Given the description of an element on the screen output the (x, y) to click on. 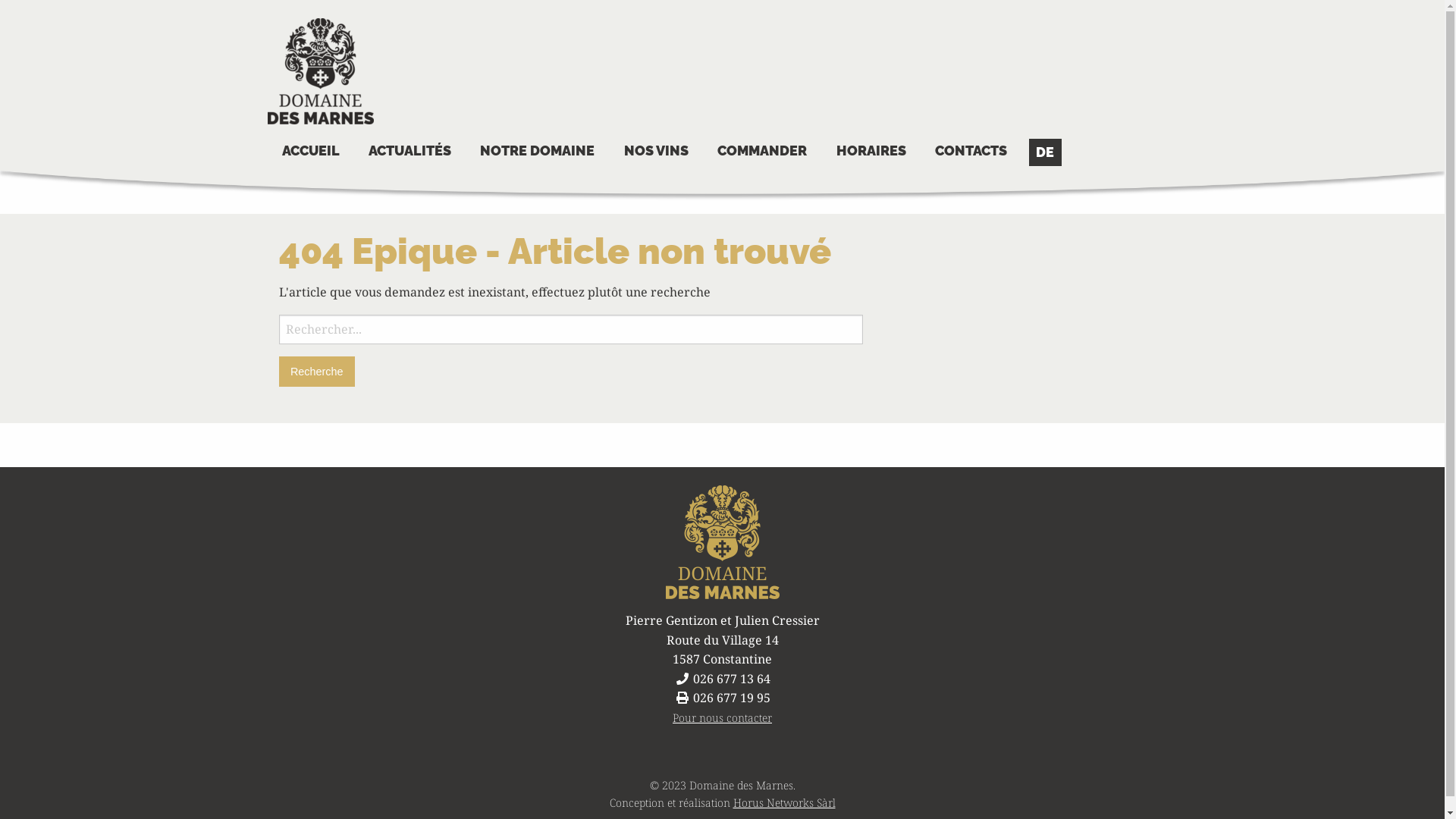
Recherche Element type: text (316, 371)
Recherche Element type: hover (570, 329)
ACCUEIL Element type: text (310, 152)
HORAIRES Element type: text (870, 152)
NOTRE DOMAINE Element type: text (537, 152)
DE Element type: text (1045, 152)
Pour nous contacter Element type: text (721, 717)
CONTACTS Element type: text (970, 152)
NOS VINS Element type: text (655, 152)
COMMANDER Element type: text (762, 152)
